Given the description of an element on the screen output the (x, y) to click on. 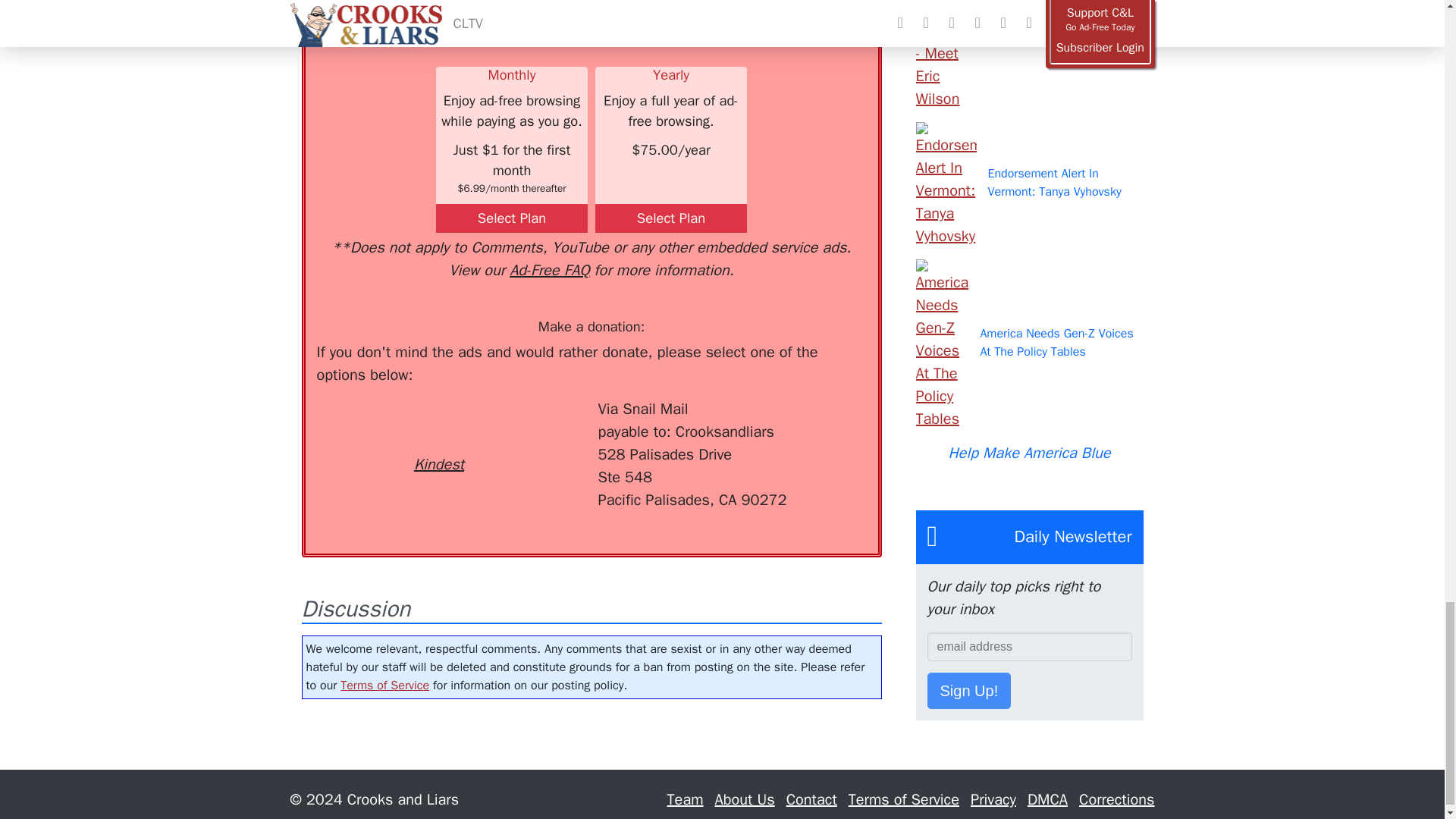
Donate via PayPal (540, 425)
Donate via Kindest (438, 436)
